Given the description of an element on the screen output the (x, y) to click on. 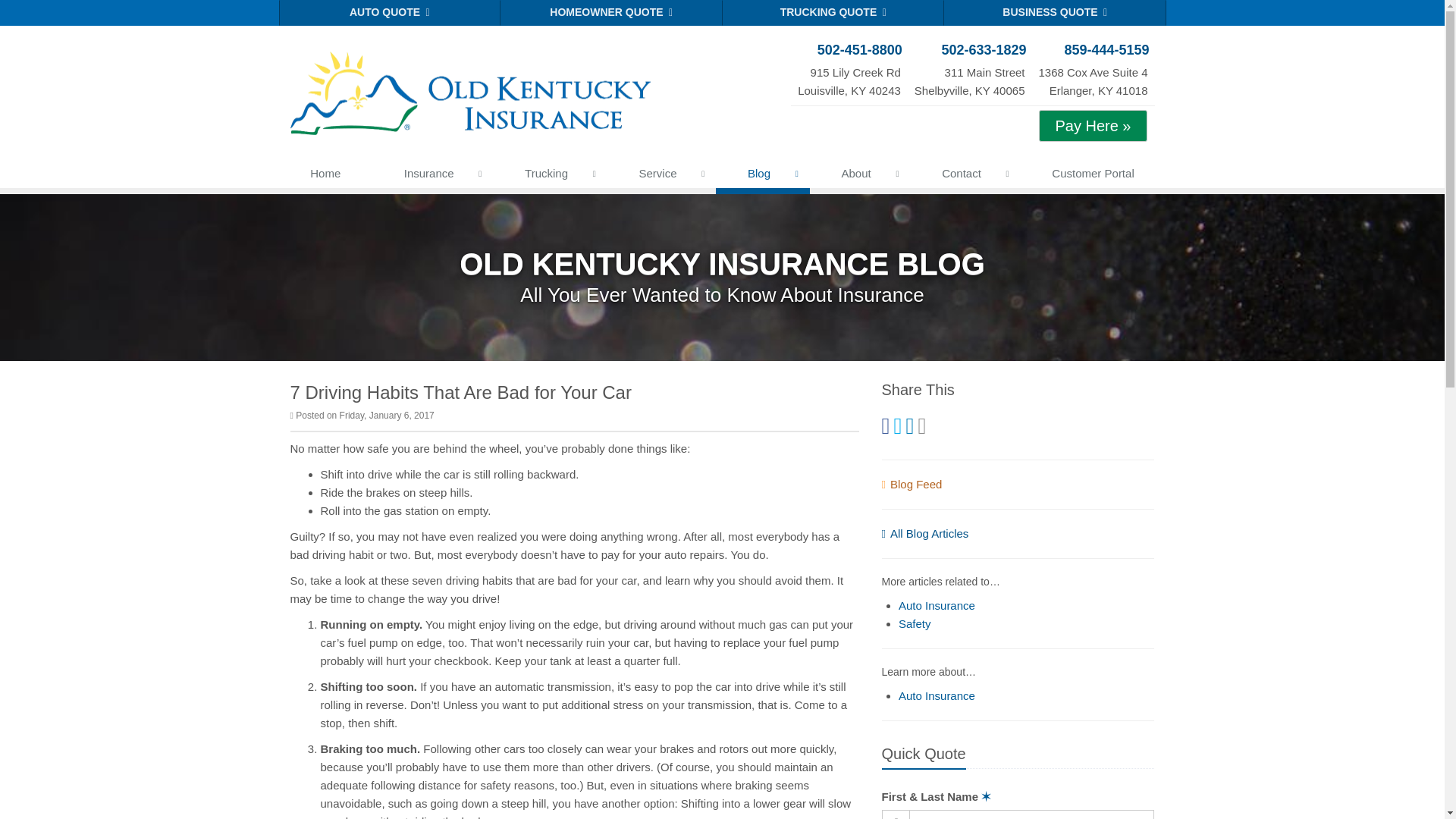
AUTO QUOTE (389, 12)
Home (325, 176)
Required (986, 796)
502-633-1829 (969, 49)
TRUCKING QUOTE (832, 12)
Insurance (432, 176)
BUSINESS QUOTE (1054, 12)
859-444-5159 (1092, 70)
HOMEOWNER QUOTE (1092, 49)
502-451-8800 (969, 70)
